Given the description of an element on the screen output the (x, y) to click on. 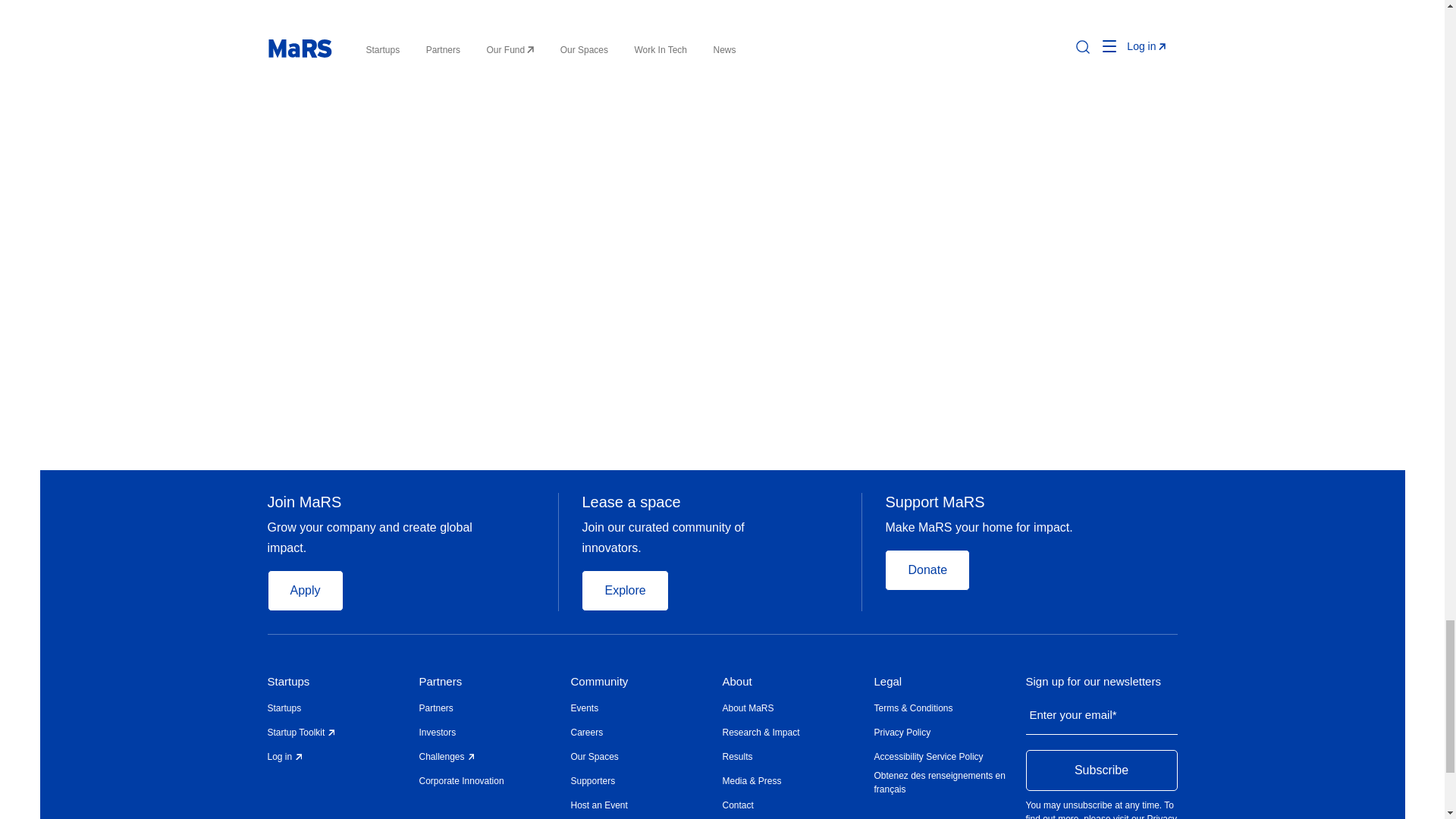
Subscribe (1100, 770)
